Given the description of an element on the screen output the (x, y) to click on. 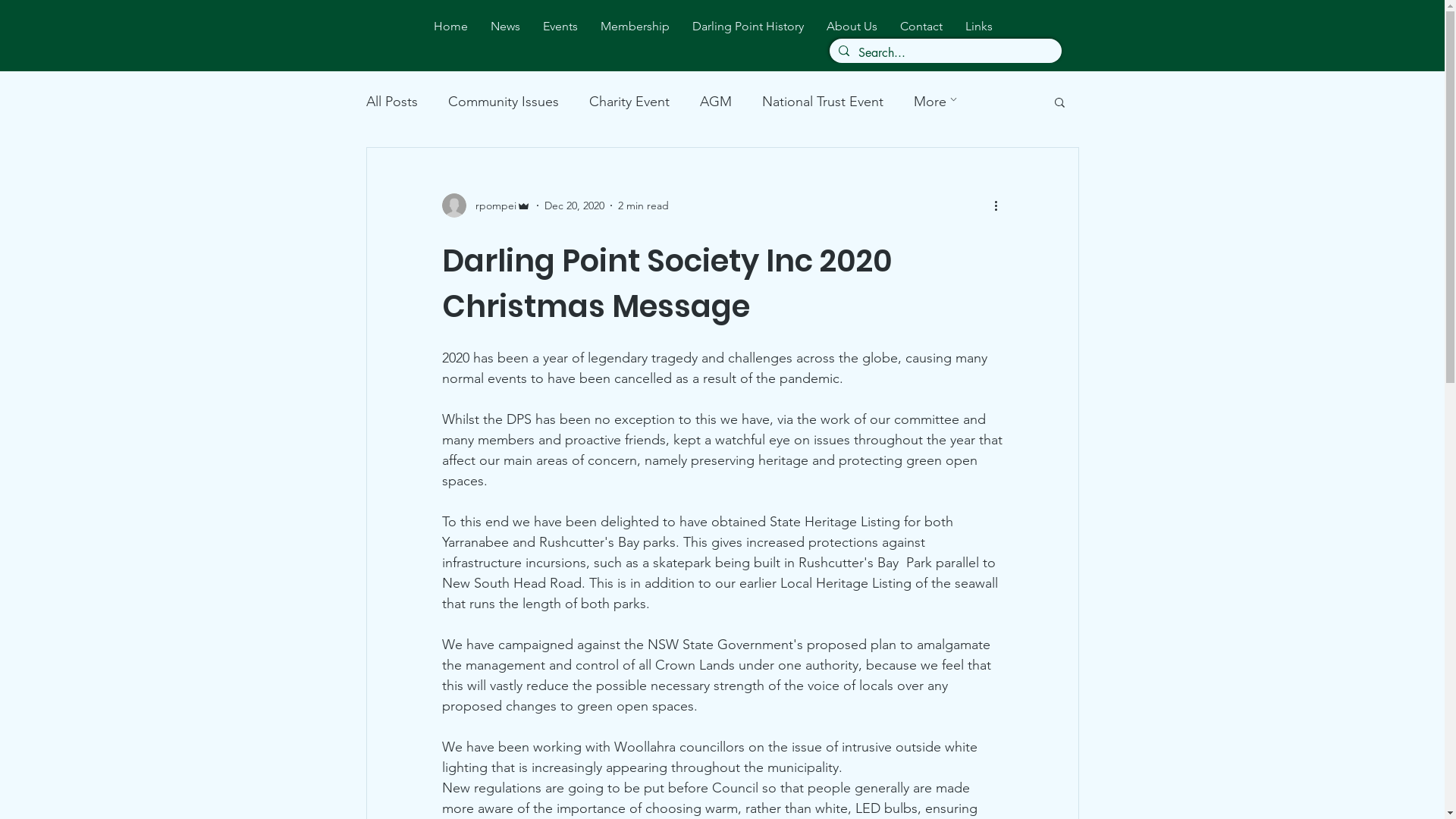
Contact Element type: text (920, 26)
Events Element type: text (560, 26)
Community Issues Element type: text (502, 101)
Charity Event Element type: text (628, 101)
National Trust Event Element type: text (821, 101)
Home Element type: text (450, 26)
All Posts Element type: text (391, 101)
Links Element type: text (978, 26)
About Us Element type: text (851, 26)
AGM Element type: text (715, 101)
News Element type: text (505, 26)
Darling Point History Element type: text (747, 26)
Membership Element type: text (634, 26)
rpompei Element type: text (485, 205)
